Given the description of an element on the screen output the (x, y) to click on. 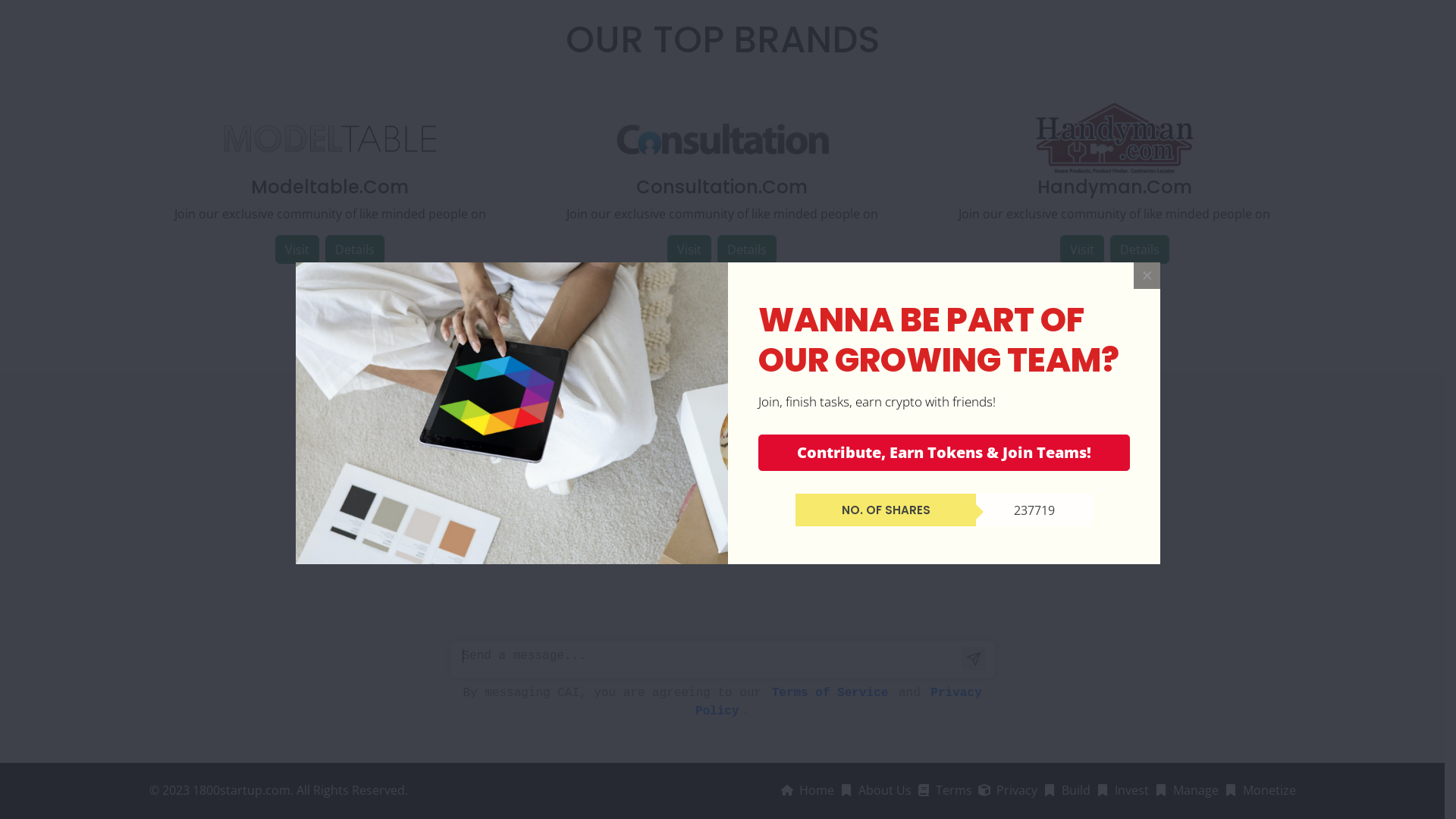
Contribute Element type: text (665, 21)
Contribute, Earn Tokens & Join Teams! Element type: text (943, 476)
Powered by VNOC Element type: text (477, 150)
Proud Member of CONTRIB Element type: text (264, 150)
Partner Element type: text (730, 21)
About Element type: text (782, 21)
Next Element type: text (1119, 404)
Home Element type: text (604, 21)
Contact Element type: text (834, 21)
